Given the description of an element on the screen output the (x, y) to click on. 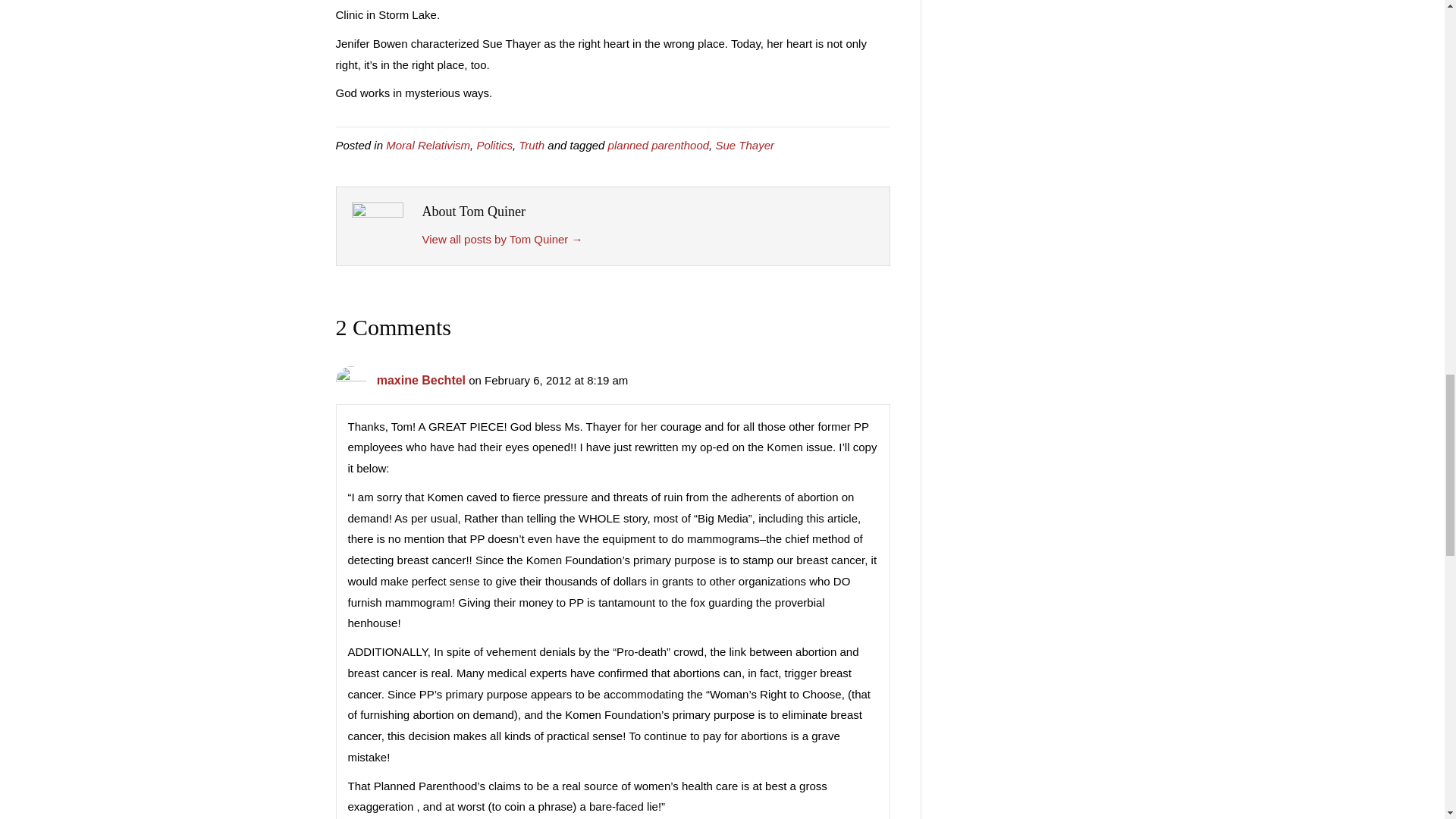
Moral Relativism (427, 144)
Sue Thayer (744, 144)
Politics (494, 144)
planned parenthood (658, 144)
Truth (531, 144)
maxine Bechtel (421, 379)
